Given the description of an element on the screen output the (x, y) to click on. 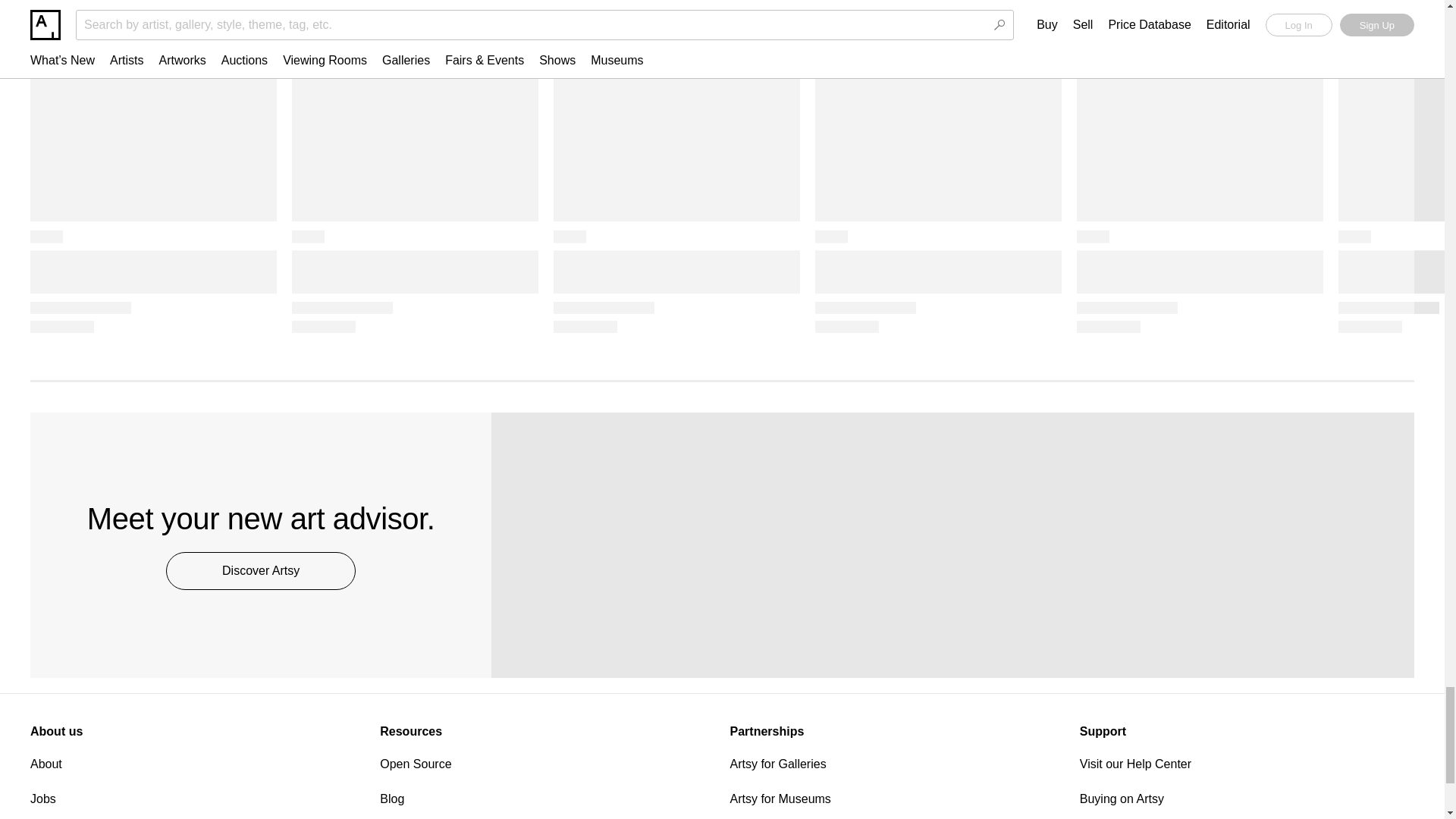
About (197, 763)
Discover Artsy (260, 570)
